Given the description of an element on the screen output the (x, y) to click on. 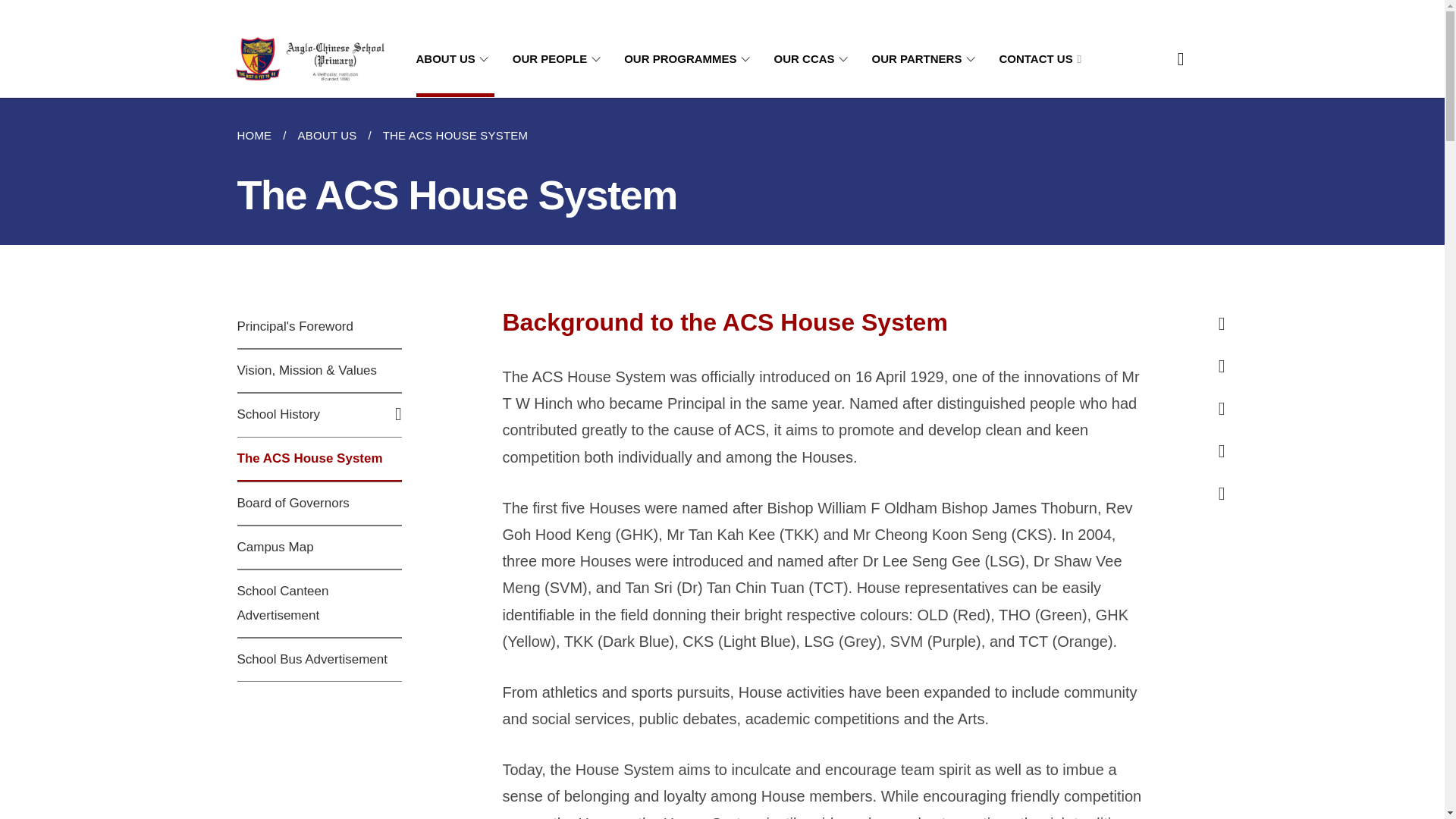
CONTACT US (1039, 59)
OUR PEOPLE (558, 59)
OUR PARTNERS (926, 59)
OUR CCAS (813, 59)
HOME (258, 135)
OUR PROGRAMMES (689, 59)
ABOUT US (453, 59)
